Given the description of an element on the screen output the (x, y) to click on. 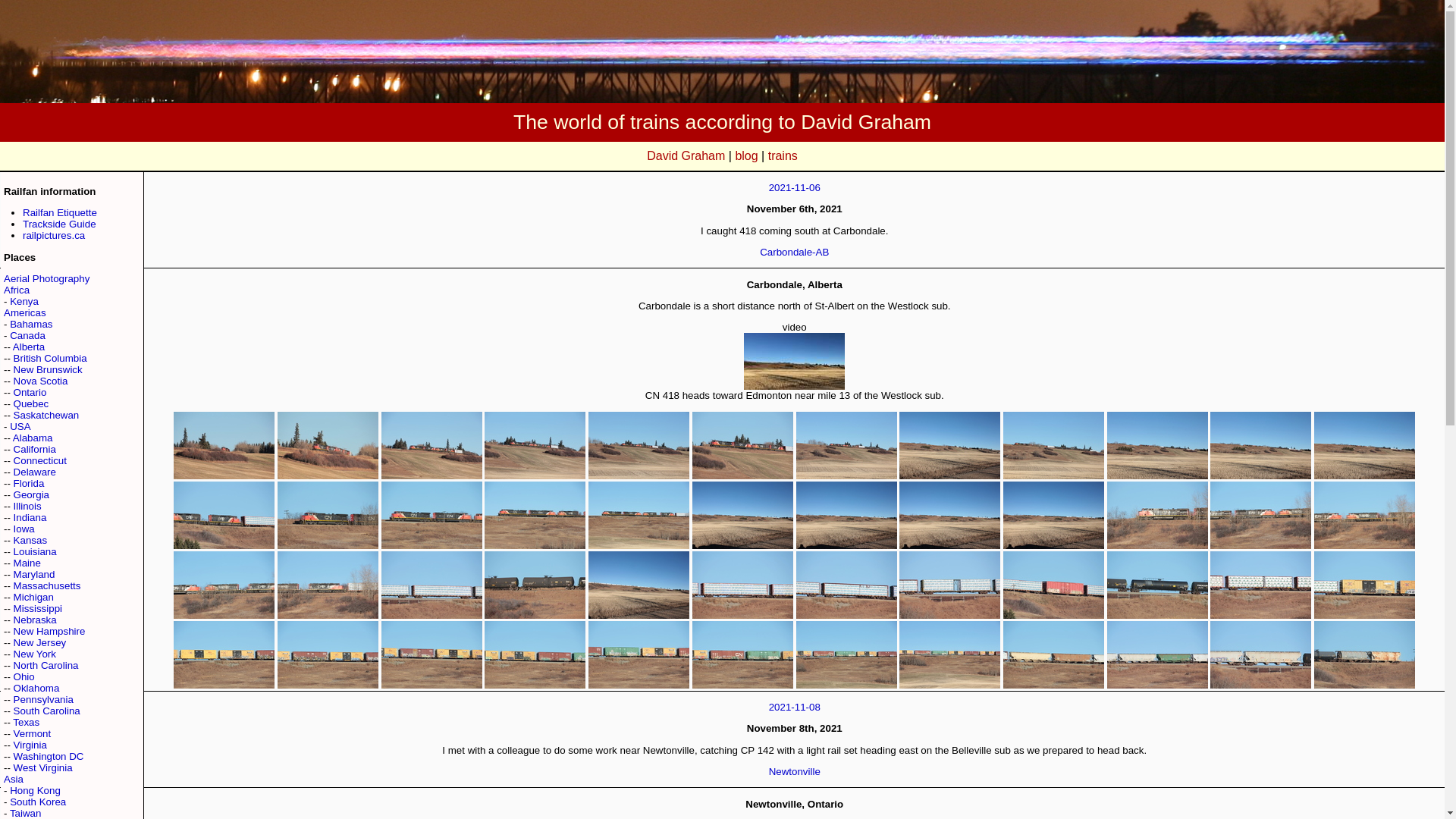
Iowa (23, 528)
Florida (29, 482)
Alberta (29, 346)
Ontario (29, 392)
railpictures.ca (53, 235)
Quebec (31, 403)
British Columbia (50, 357)
Maine (26, 562)
Louisiana (34, 551)
Bahamas (31, 324)
Americas (25, 312)
Kansas (29, 540)
Mississippi (37, 608)
New Brunswick (47, 369)
Alabama (32, 437)
